Given the description of an element on the screen output the (x, y) to click on. 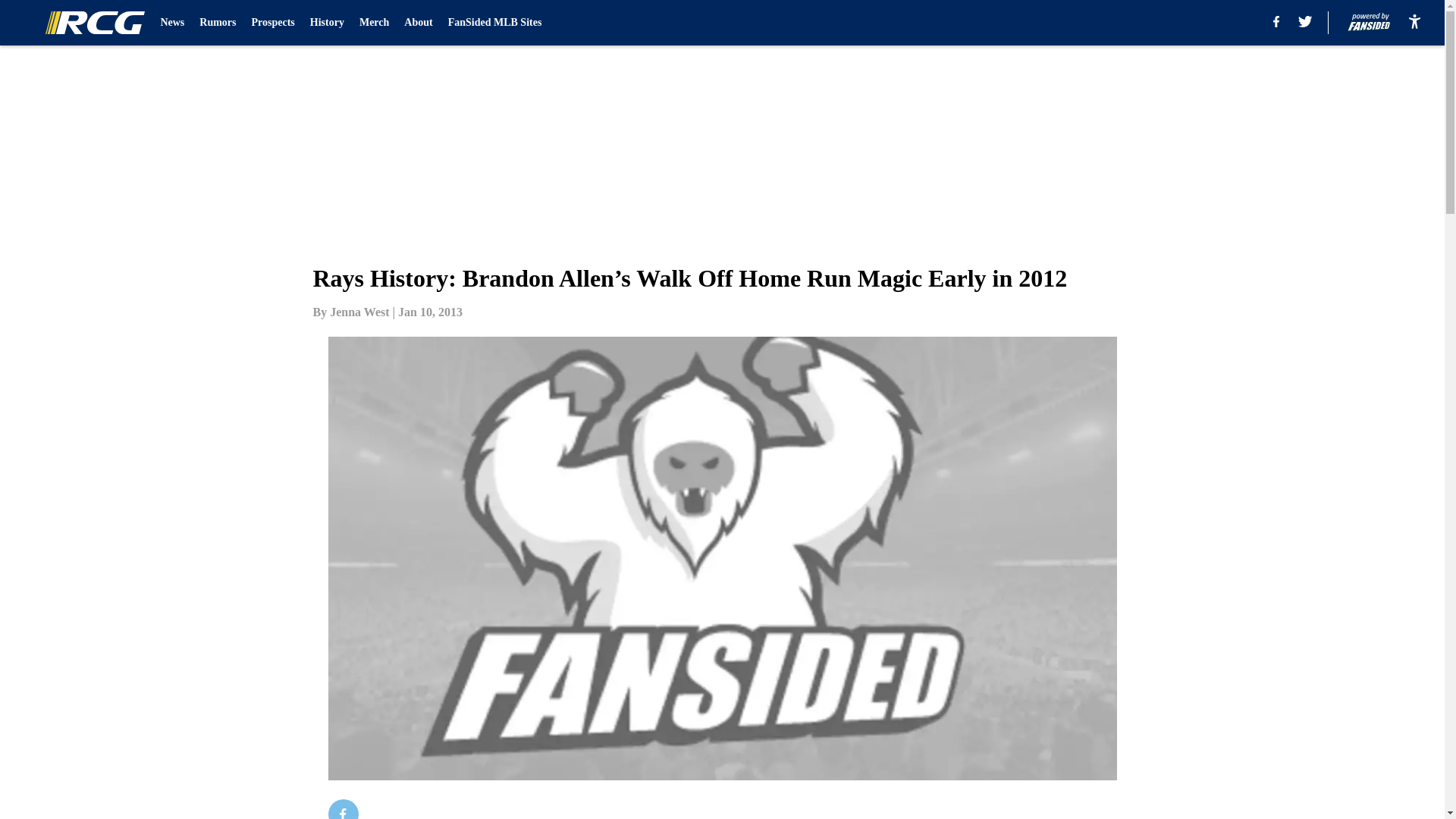
History (326, 22)
About (418, 22)
FanSided MLB Sites (494, 22)
Rumors (217, 22)
Merch (373, 22)
Prospects (273, 22)
News (172, 22)
